Given the description of an element on the screen output the (x, y) to click on. 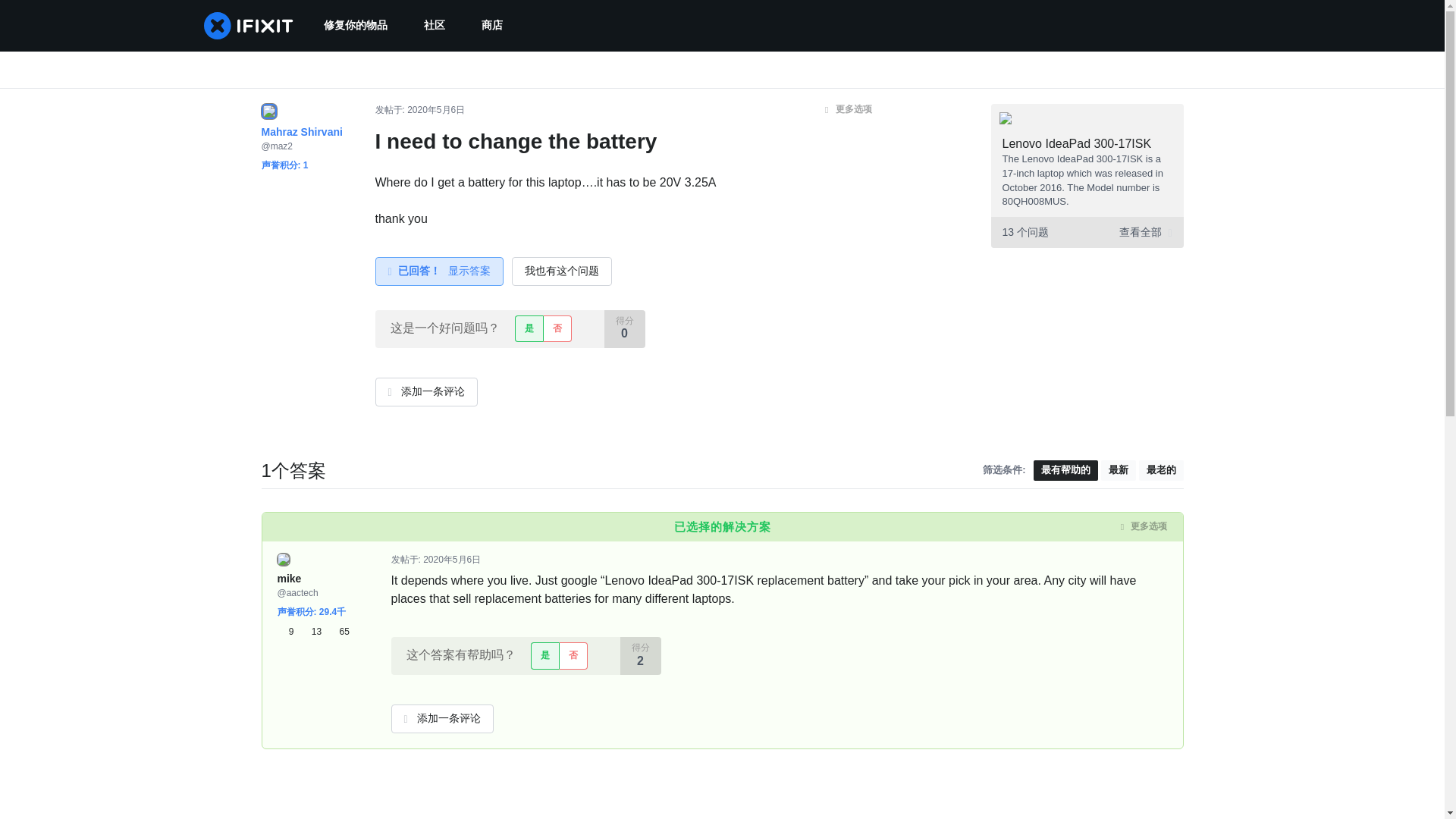
Wed, 06 May 2020 08:21:47 -0700 (435, 109)
Wed, 06 May 2020 23:18:52 -0700 (451, 559)
9 13 65 (313, 631)
Lenovo IdeaPad 300-17ISK (1077, 143)
